Given the description of an element on the screen output the (x, y) to click on. 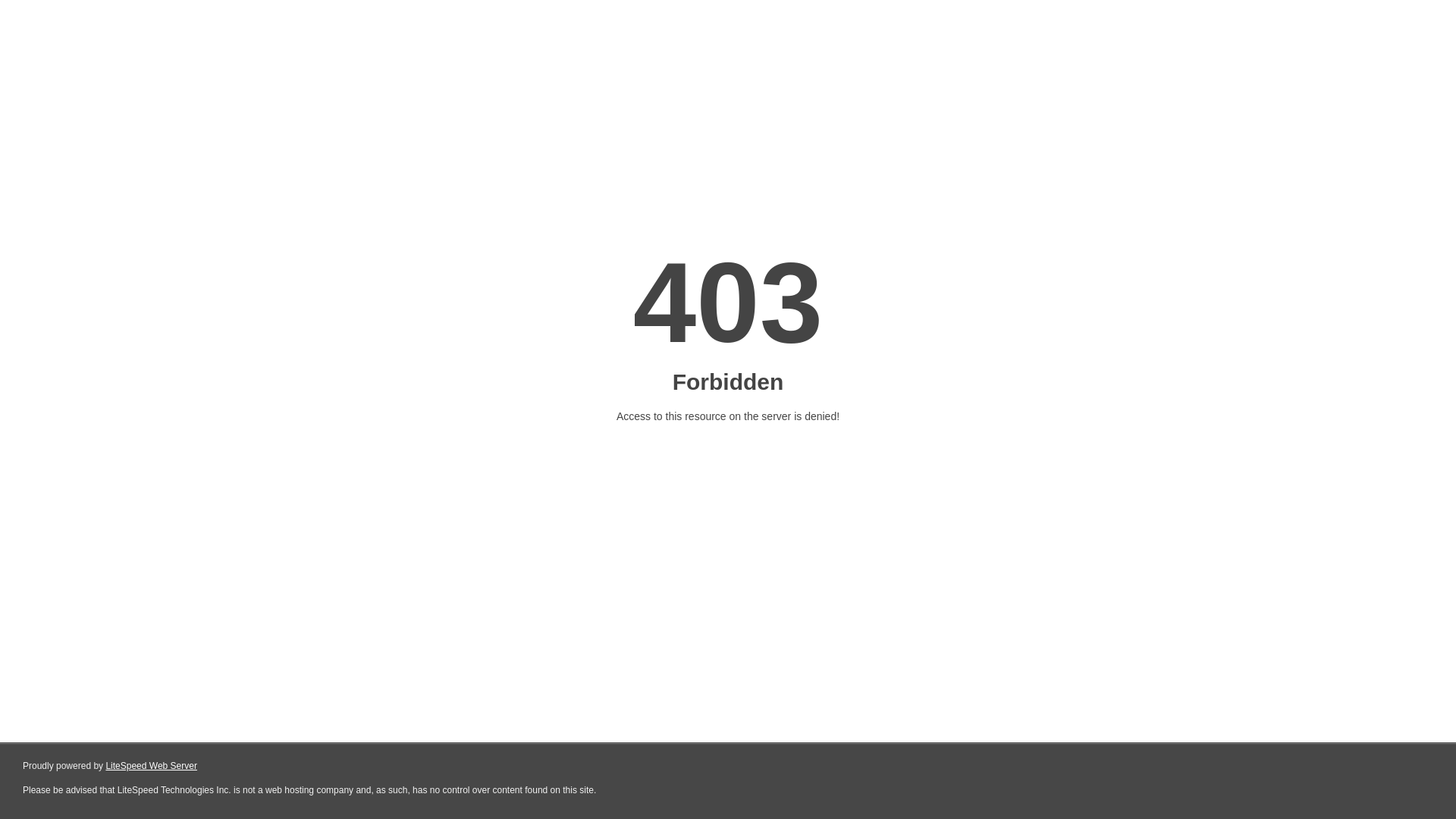
LiteSpeed Web Server Element type: text (151, 765)
